Given the description of an element on the screen output the (x, y) to click on. 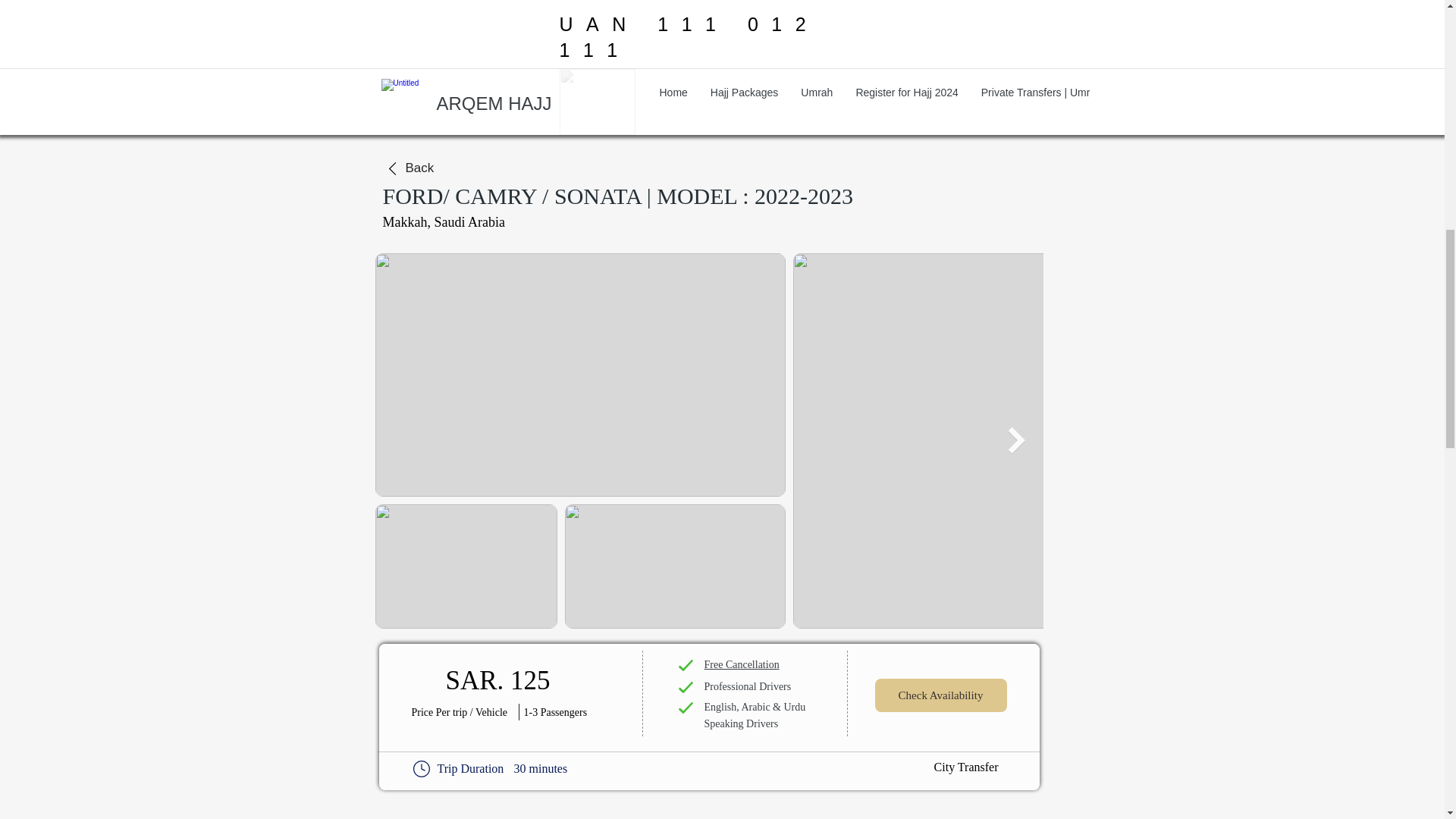
Free Cancellation (740, 664)
Back (433, 168)
Check Availability (941, 694)
